Given the description of an element on the screen output the (x, y) to click on. 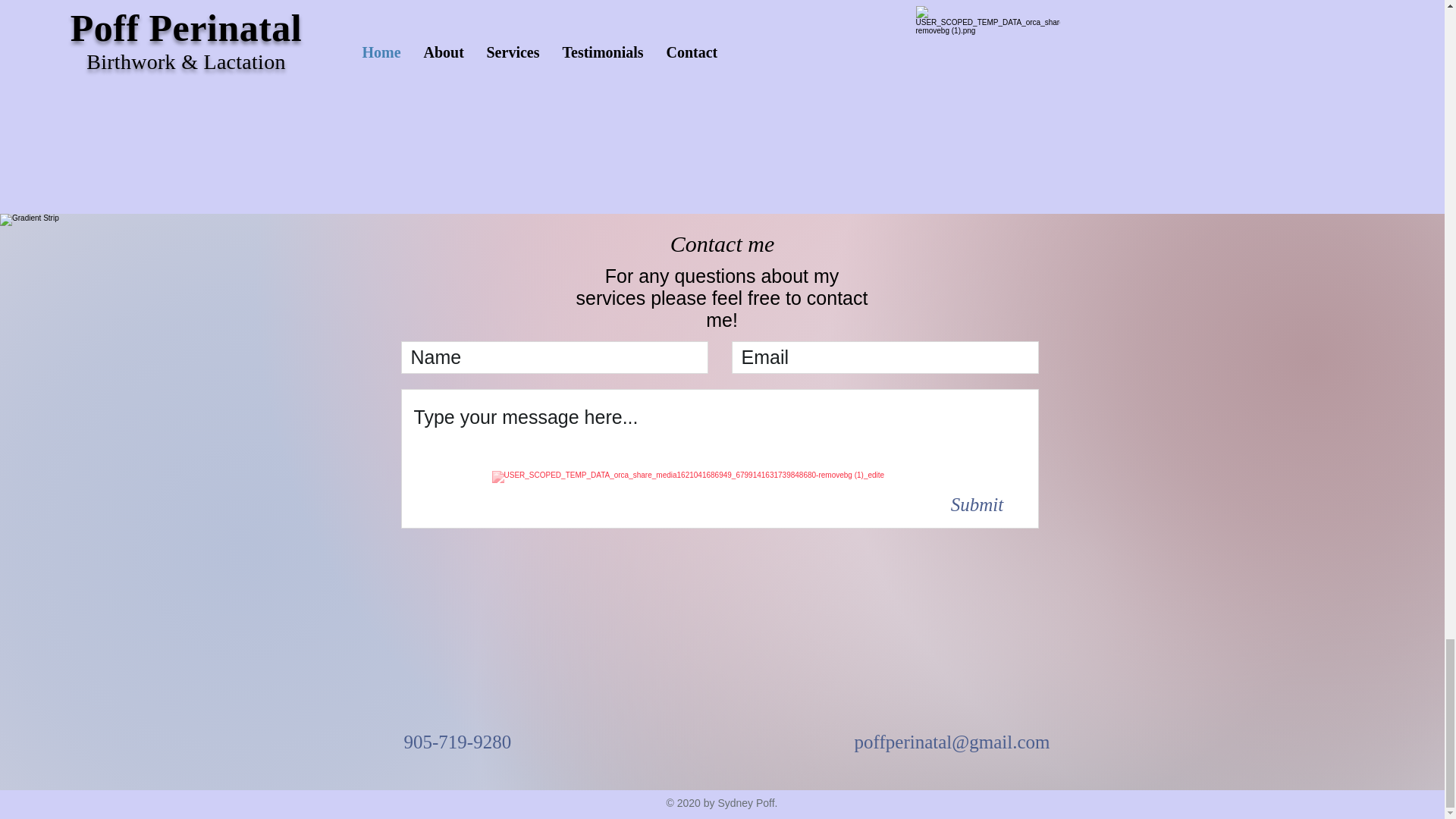
Submit (976, 503)
905-719-9280 (457, 742)
